Given the description of an element on the screen output the (x, y) to click on. 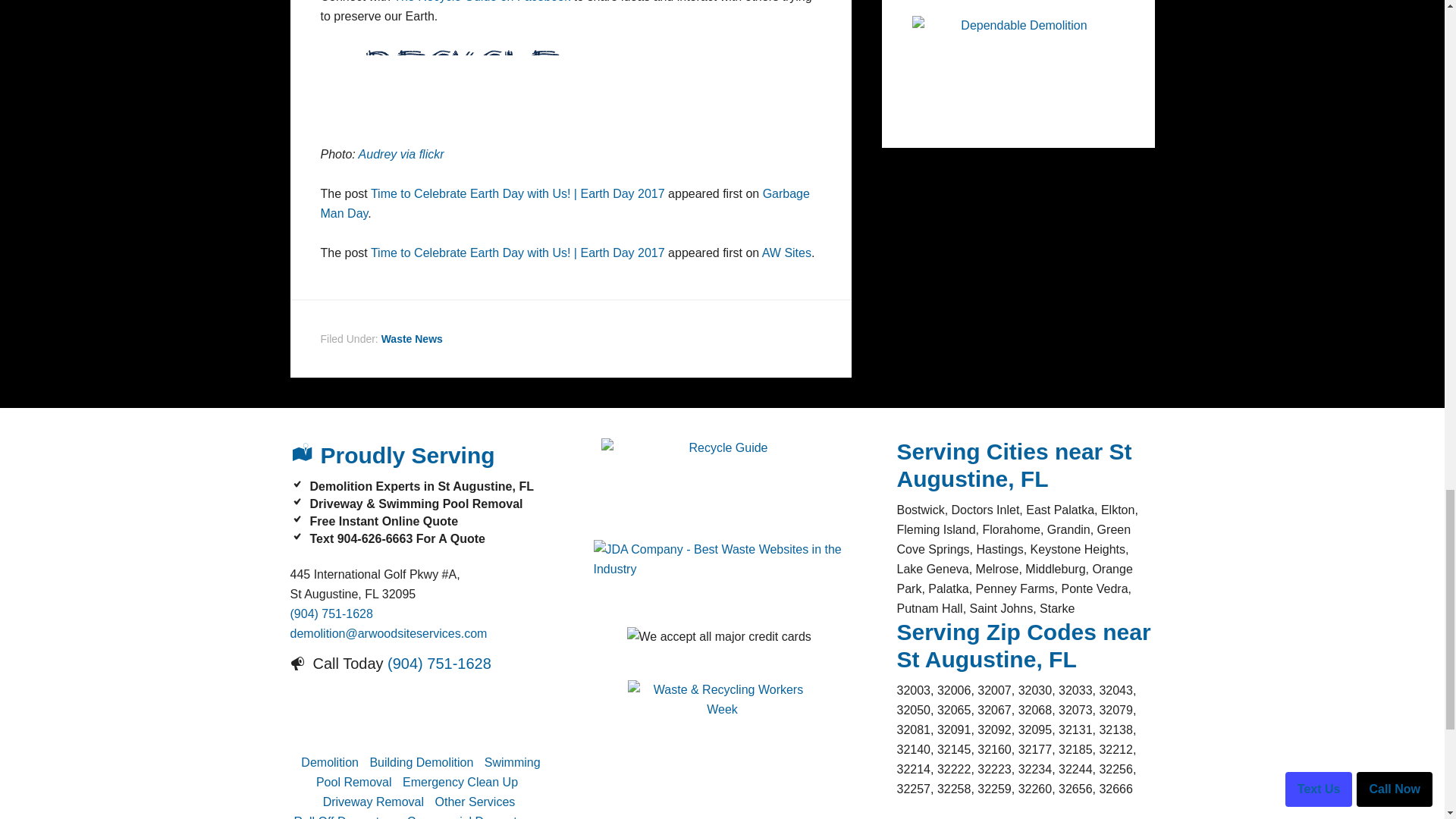
Audrey via flickr (401, 154)
Like The Recycle Guide on Facebook (481, 1)
The Recycle Guide on Facebook (481, 1)
